Given the description of an element on the screen output the (x, y) to click on. 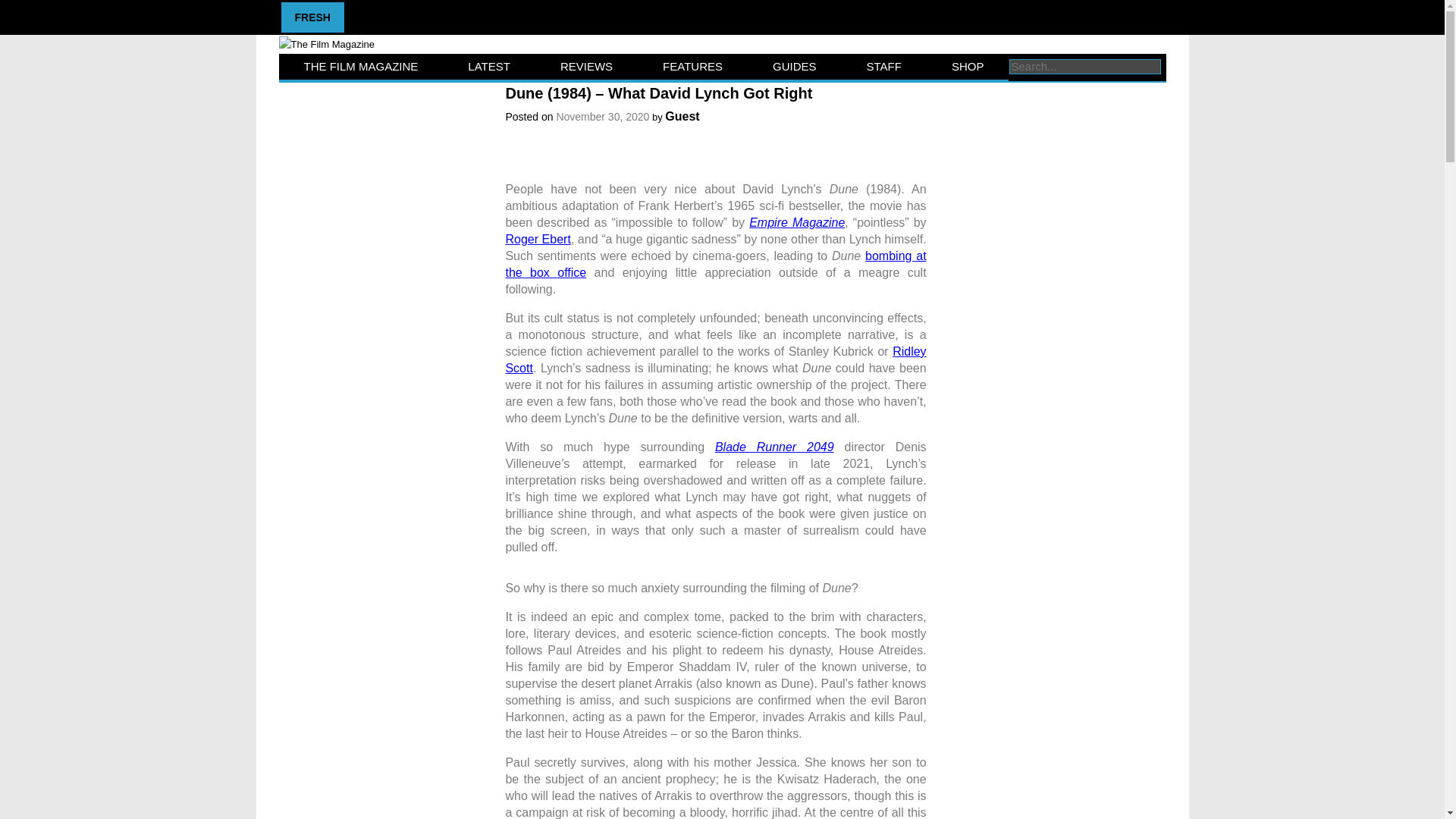
SHOP (967, 66)
bombing at the box office (715, 264)
Guest (681, 115)
Blade Runner 2049 (774, 446)
REVIEWS (586, 66)
GUIDES (794, 66)
FEATURES (692, 66)
Roger Ebert (537, 238)
LATEST (488, 66)
November 30, 2020 (602, 116)
